Given the description of an element on the screen output the (x, y) to click on. 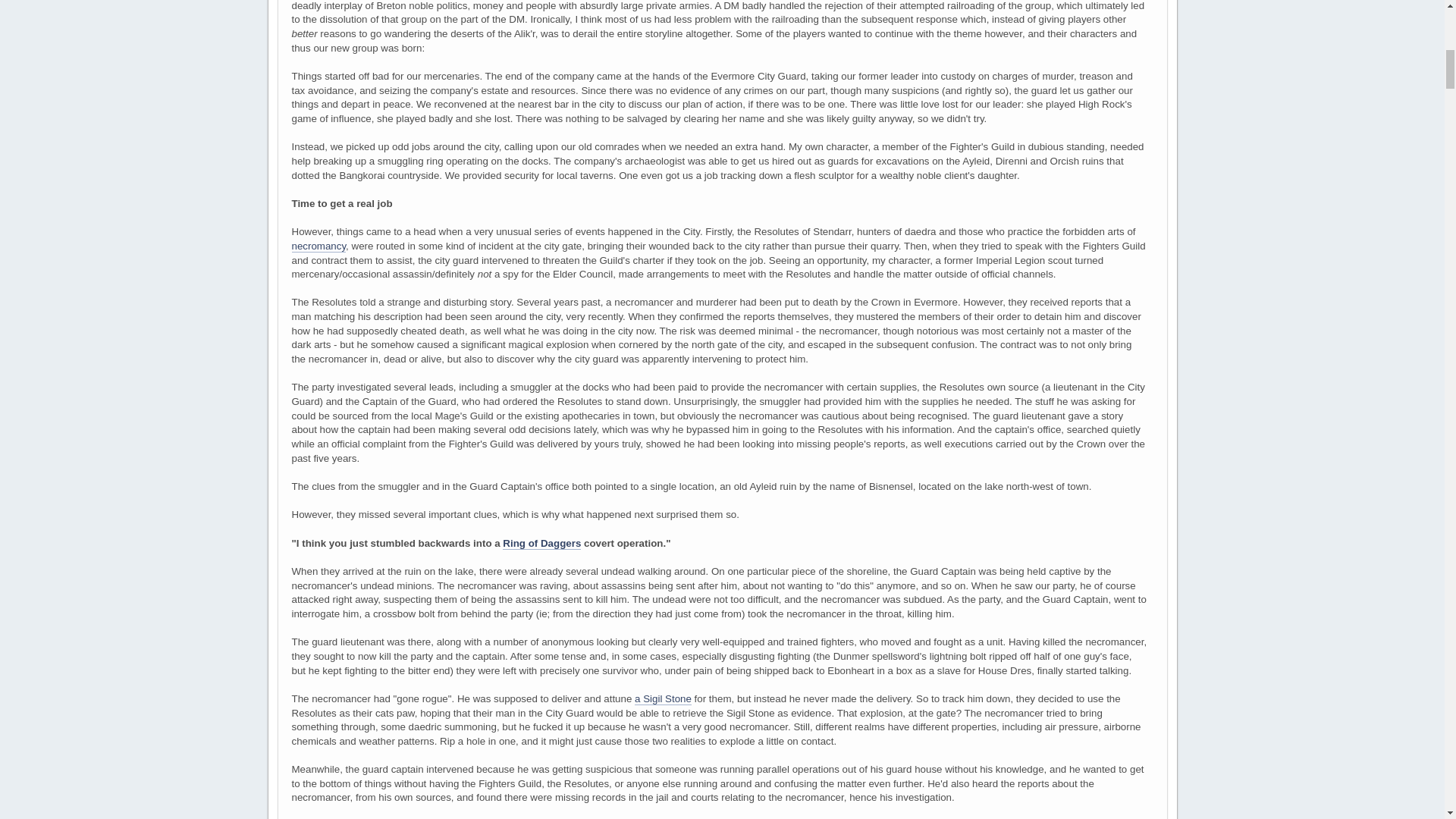
necromancy (318, 246)
a Sigil Stone (662, 698)
Ring of Daggers (541, 543)
